Given the description of an element on the screen output the (x, y) to click on. 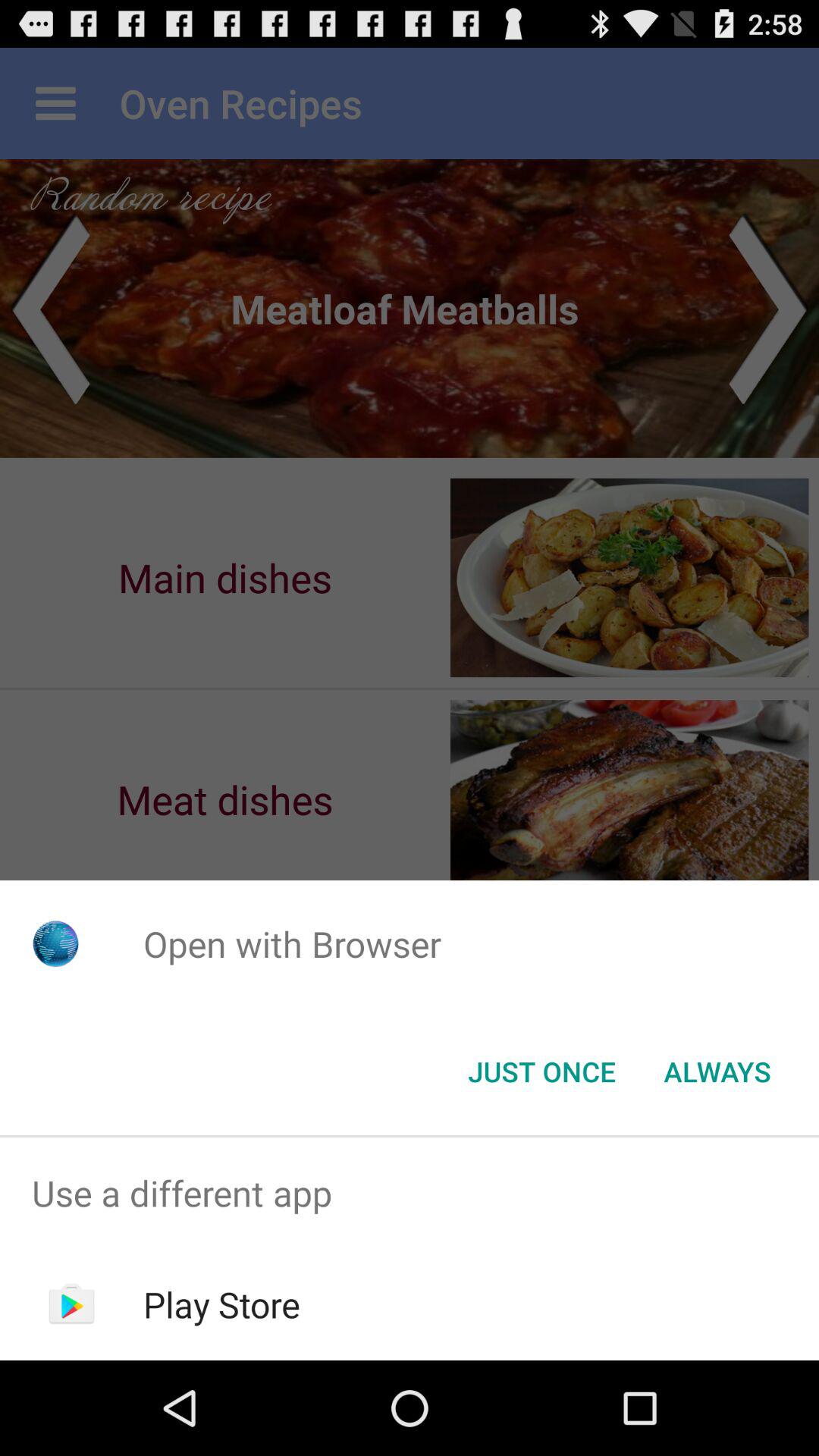
jump until use a different app (409, 1192)
